Given the description of an element on the screen output the (x, y) to click on. 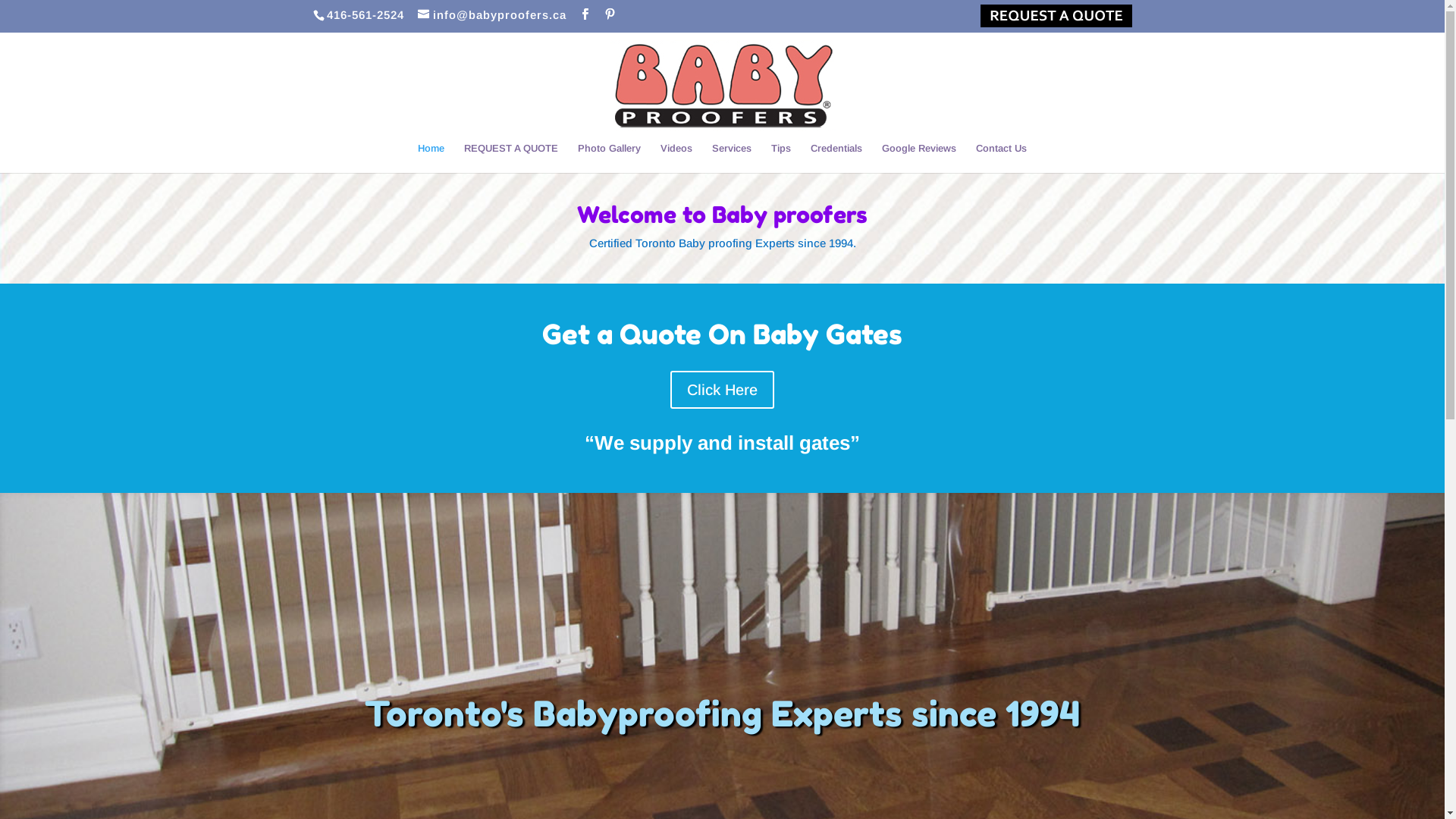
Home Element type: text (430, 157)
Google Reviews Element type: text (918, 157)
info@babyproofers.ca Element type: text (491, 14)
Click Here Element type: text (722, 388)
Services Element type: text (731, 157)
REQUEST A QUOTE Element type: text (511, 157)
Tips Element type: text (780, 157)
Contact Us Element type: text (1000, 157)
Credentials Element type: text (836, 157)
Videos Element type: text (676, 157)
Photo Gallery Element type: text (608, 157)
